Given the description of an element on the screen output the (x, y) to click on. 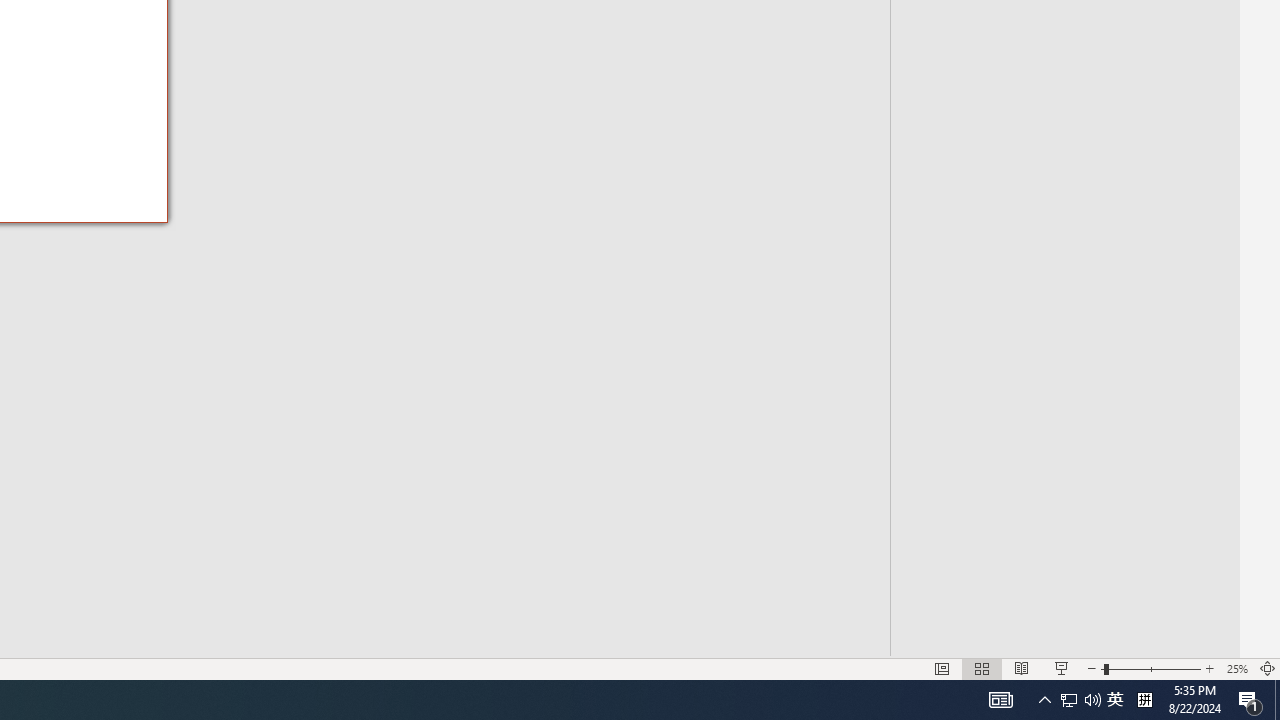
Zoom 25% (1236, 668)
